Given the description of an element on the screen output the (x, y) to click on. 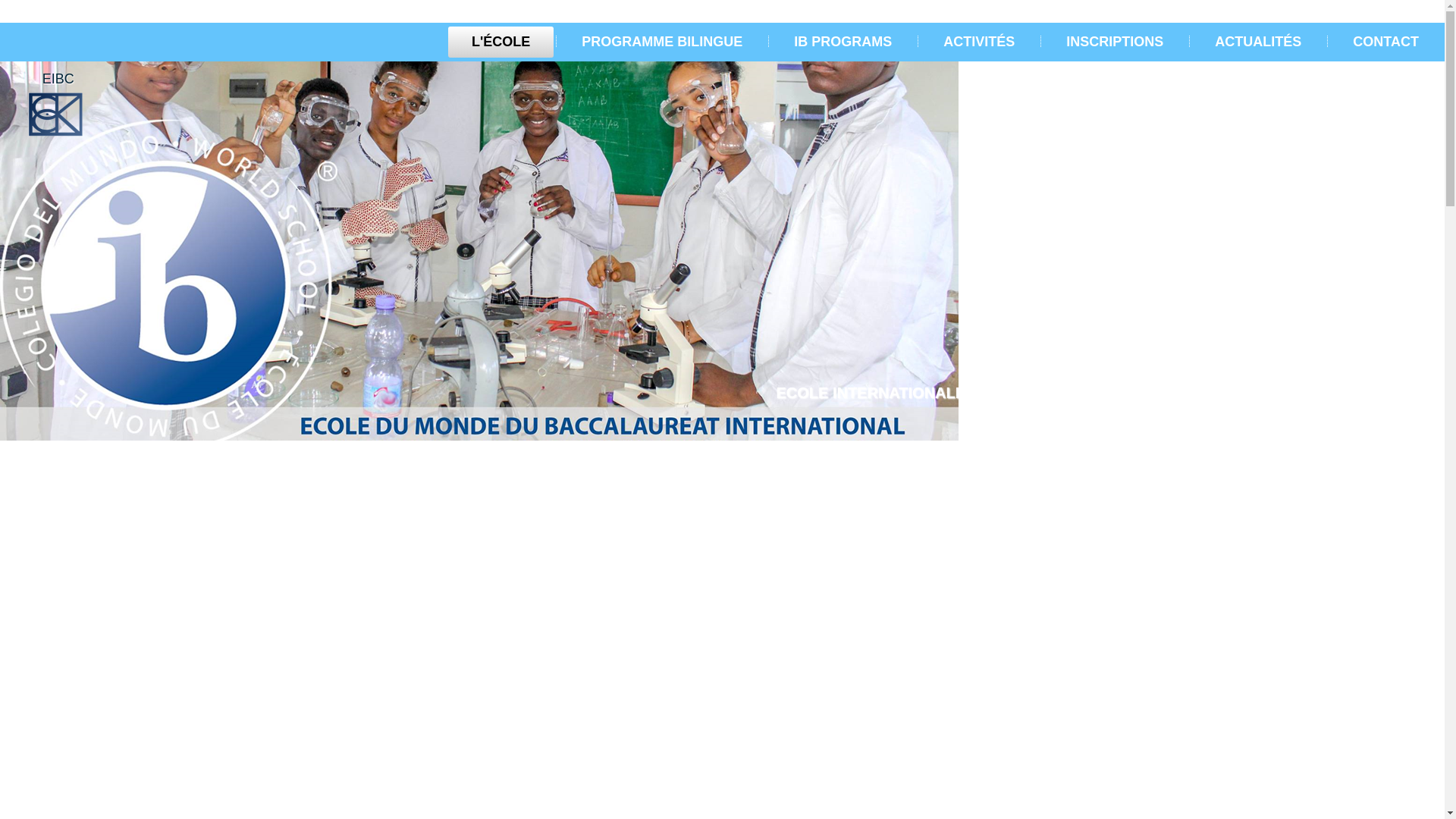
CONTACT Element type: text (1385, 41)
INSCRIPTIONS Element type: text (1114, 41)
PROGRAMME BILINGUE Element type: text (661, 41)
IB PROGRAMS Element type: text (842, 41)
EIBC Element type: text (58, 78)
